Given the description of an element on the screen output the (x, y) to click on. 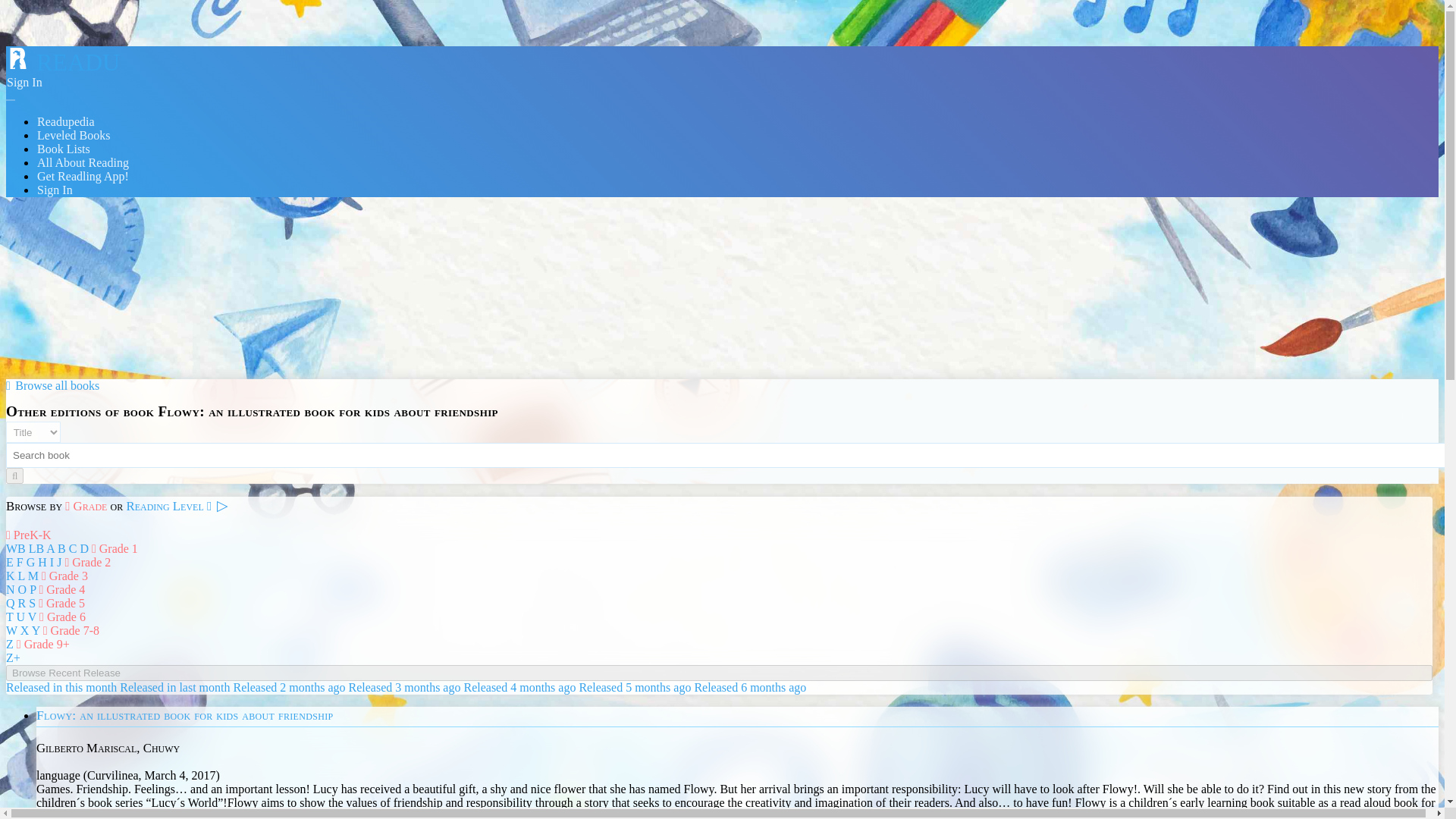
Browse all books (52, 385)
LB (36, 548)
READU (62, 62)
Readupedia (66, 121)
Grade 4 (61, 589)
Sign In (24, 82)
WB (15, 548)
All About Reading (82, 162)
Get Readling App! (82, 175)
Grade 3 (64, 575)
PreK-K (27, 534)
Reading Level (168, 505)
Grade 1 (114, 548)
Grade 2 (87, 562)
Leveled Books (73, 134)
